Given the description of an element on the screen output the (x, y) to click on. 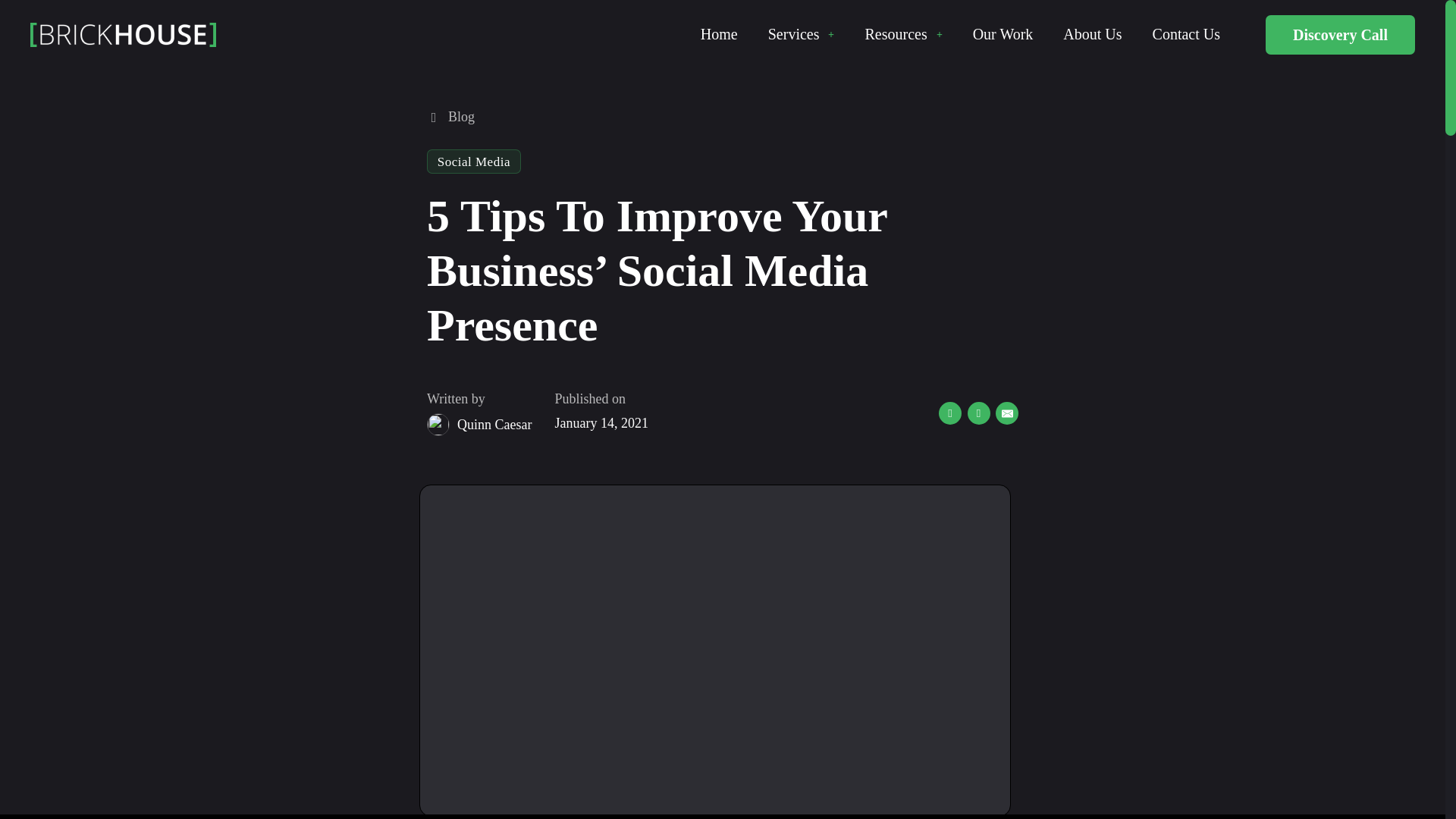
Our Work (1003, 34)
Discovery Call (1340, 34)
Contact Us (1186, 34)
Home (718, 34)
Services (793, 34)
Resources (895, 34)
Social Media (473, 161)
Blog (450, 117)
About Us (1091, 34)
